Given the description of an element on the screen output the (x, y) to click on. 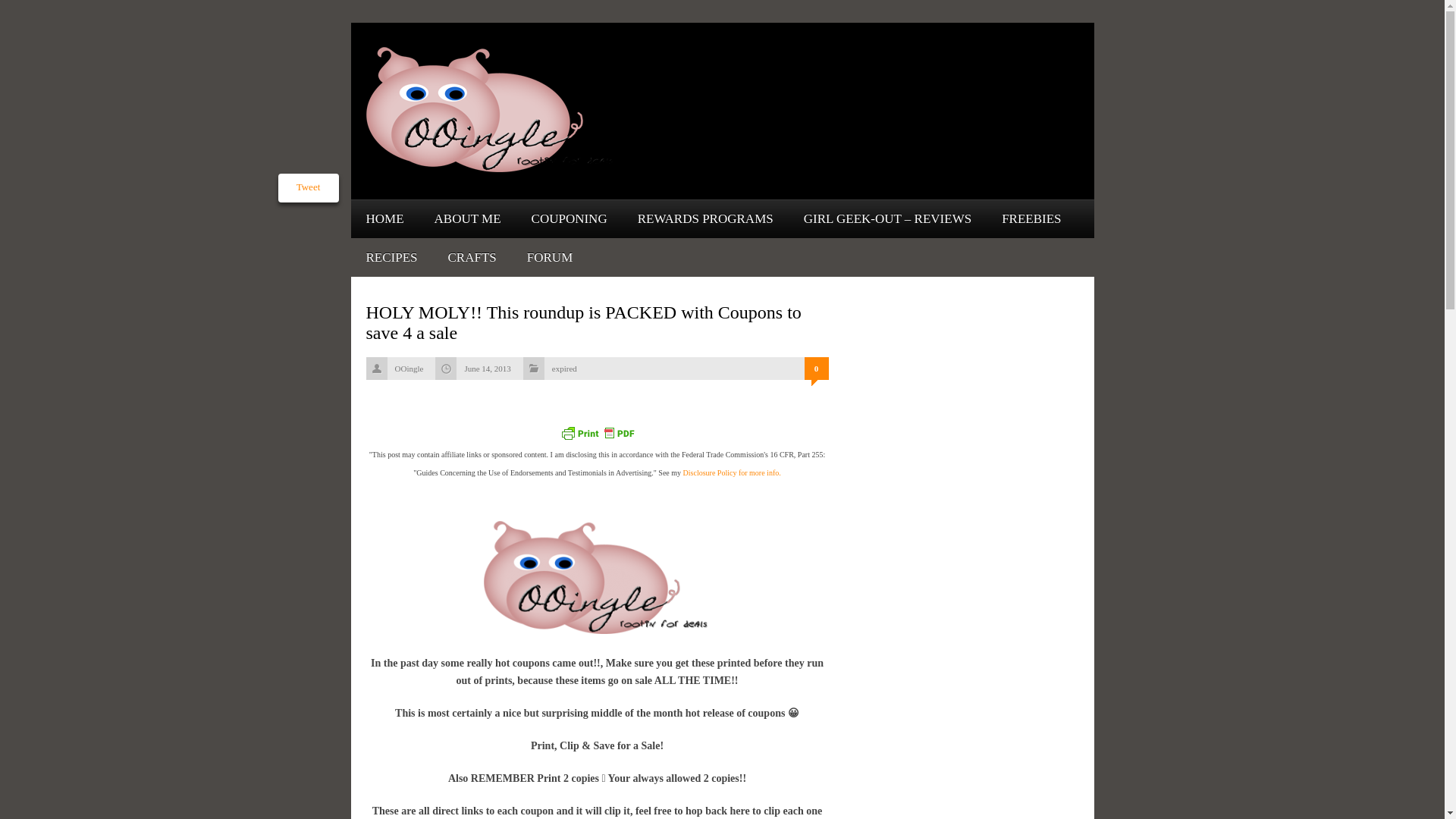
Posts by OOingle (408, 368)
HOME (384, 218)
Home (384, 218)
Disclosure Policy (731, 472)
OOINGLEori (597, 576)
ABOUT ME (466, 218)
REWARDS PROGRAMS (705, 218)
COUPONING (569, 218)
